Given the description of an element on the screen output the (x, y) to click on. 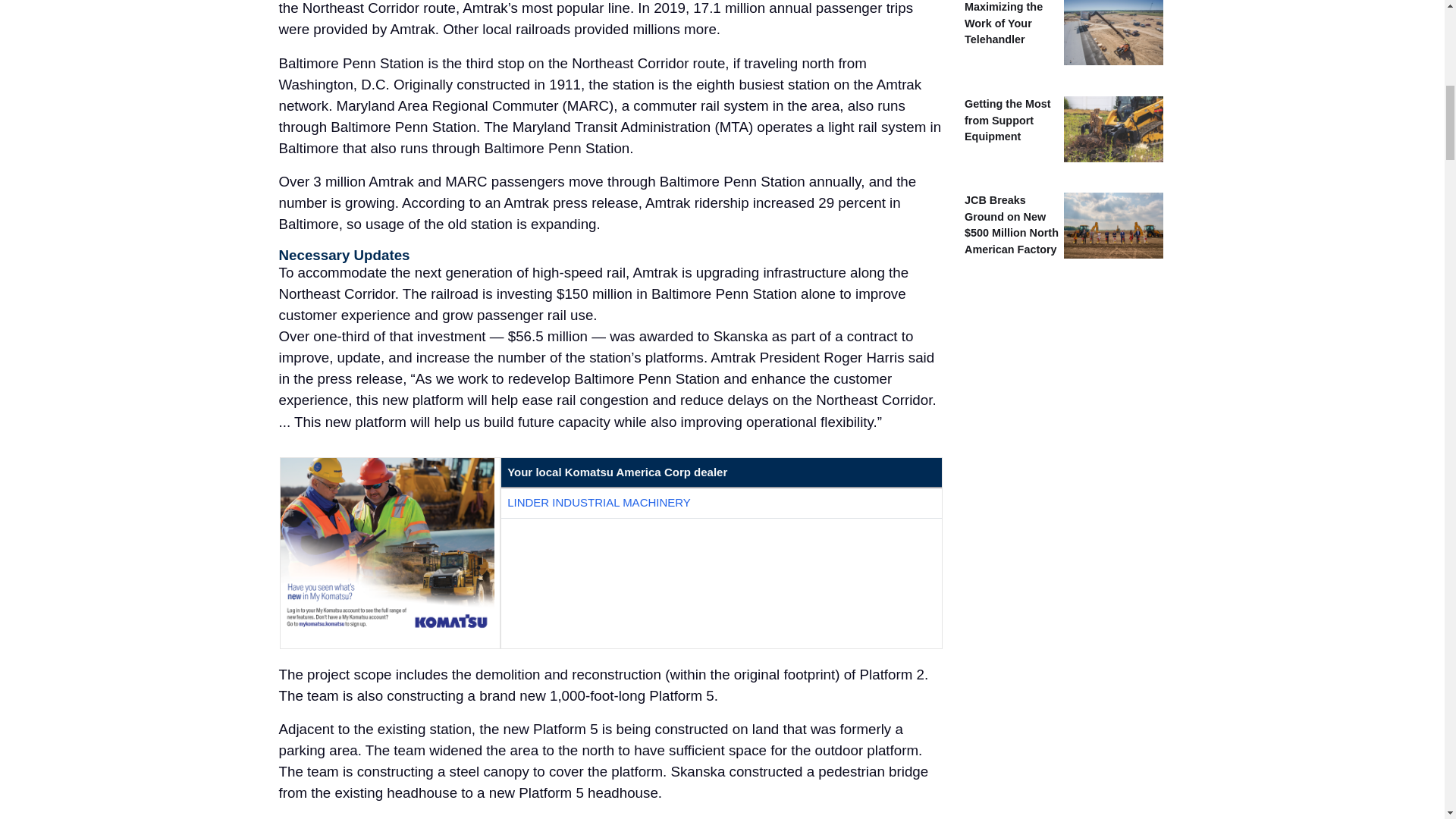
Getting the Most from Support Equipment (1007, 119)
LINDER INDUSTRIAL MACHINERY (598, 502)
Maximizing the Work of Your Telehandler (1002, 22)
